Given the description of an element on the screen output the (x, y) to click on. 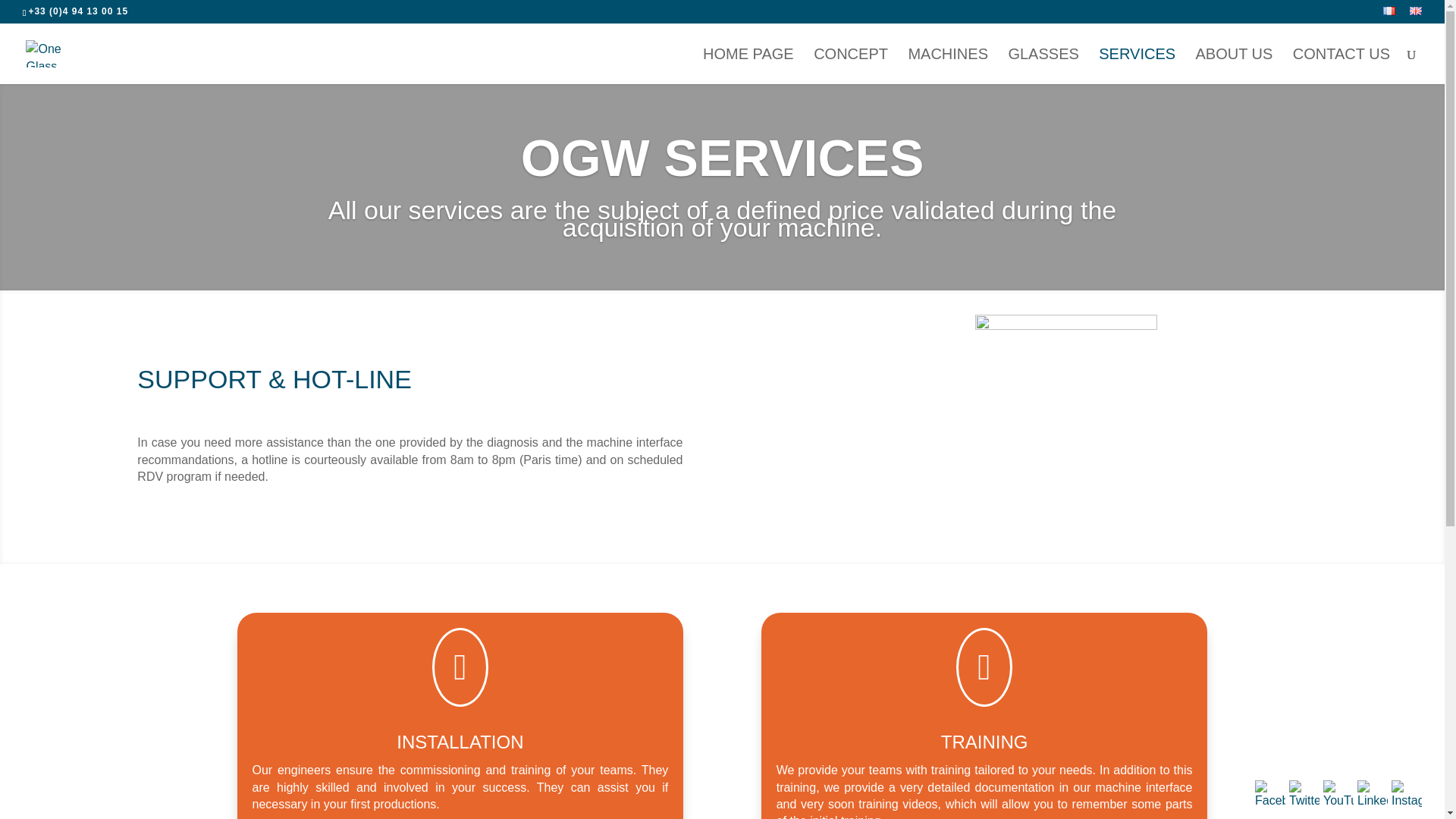
Facebook (1270, 794)
CONTACT US (1341, 66)
Twitter (1303, 794)
YouTube (1338, 794)
ABOUT US (1233, 66)
GLASSES (1042, 66)
Instagram (1406, 794)
HOME PAGE (748, 66)
CONCEPT (850, 66)
LinkedIn (1371, 794)
